Given the description of an element on the screen output the (x, y) to click on. 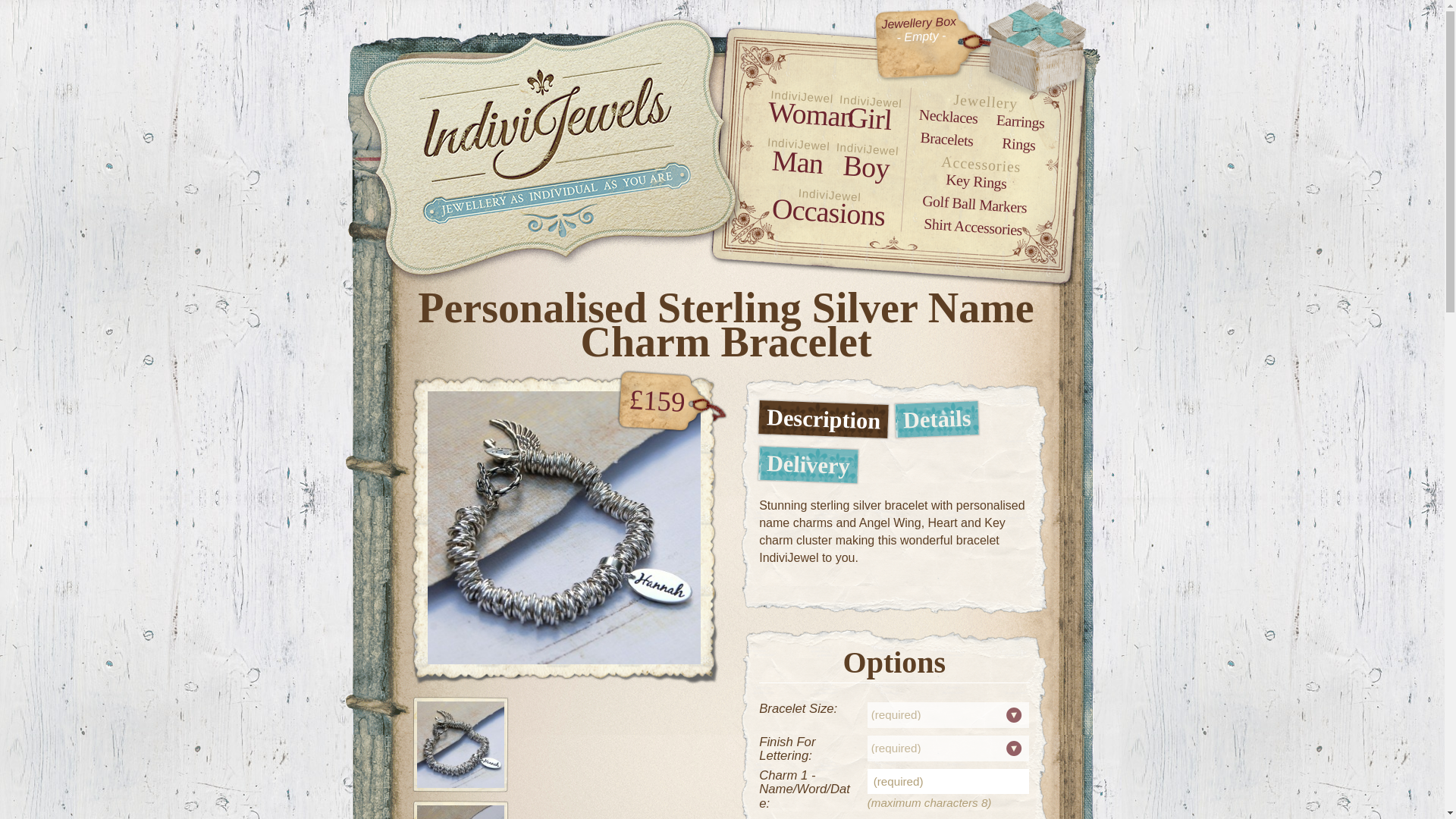
Necklaces (947, 113)
Bracelets (945, 136)
Boy (865, 164)
Woman (799, 111)
Shirt Accessories (972, 221)
Girl (868, 116)
Man (795, 159)
Earrings (1018, 118)
Occasions (827, 207)
Rings (1017, 141)
